Given the description of an element on the screen output the (x, y) to click on. 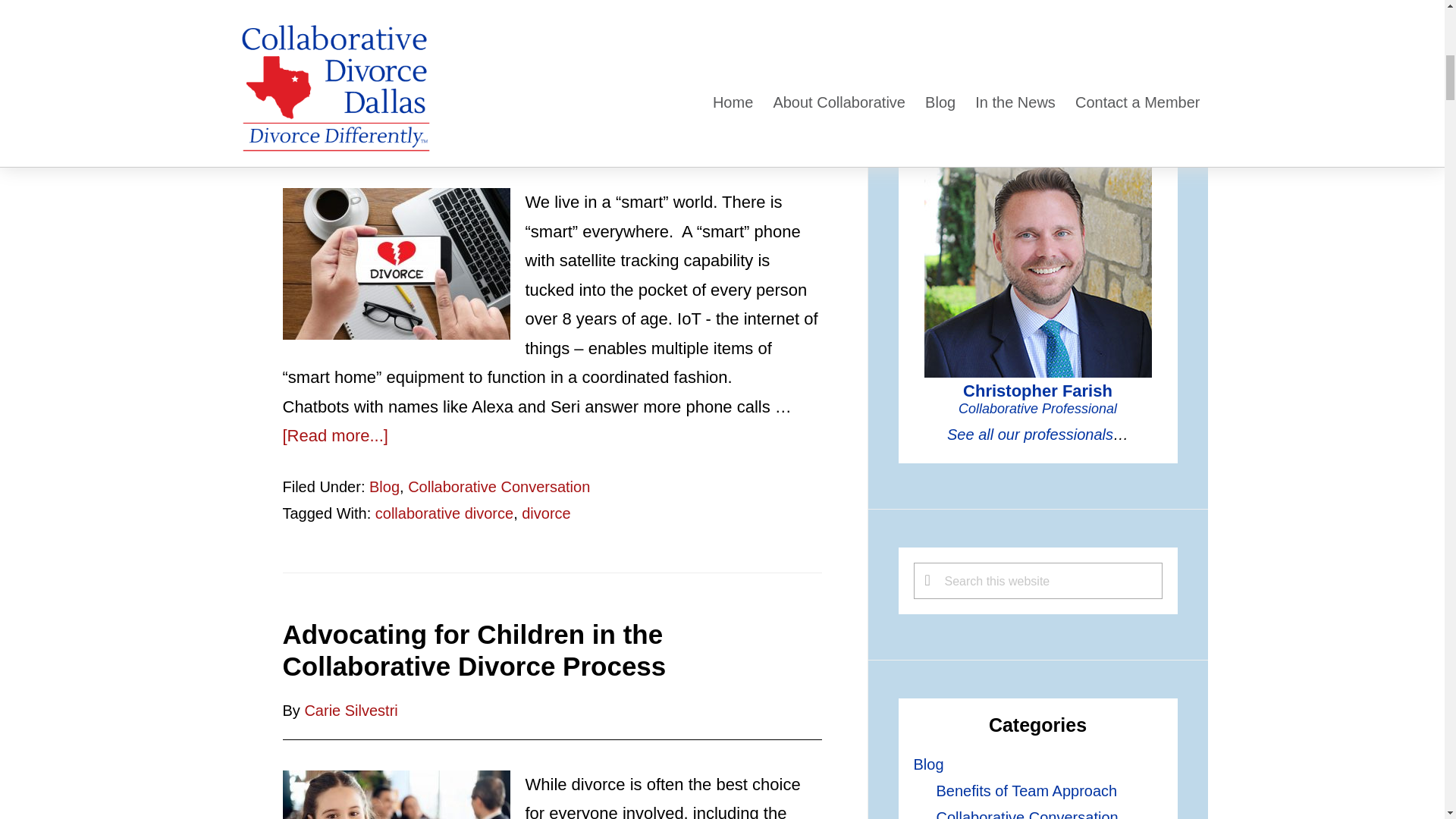
See all our professionals (1030, 434)
Collaborative Conversation (498, 485)
Blog (383, 485)
divorce (545, 513)
Advocating for Children in the Collaborative Divorce Process (473, 649)
Carie Silvestri (350, 710)
collaborative divorce (444, 513)
Christopher Farish (1036, 263)
Christopher Farish (1036, 399)
Bob Matlock (345, 127)
